Given the description of an element on the screen output the (x, y) to click on. 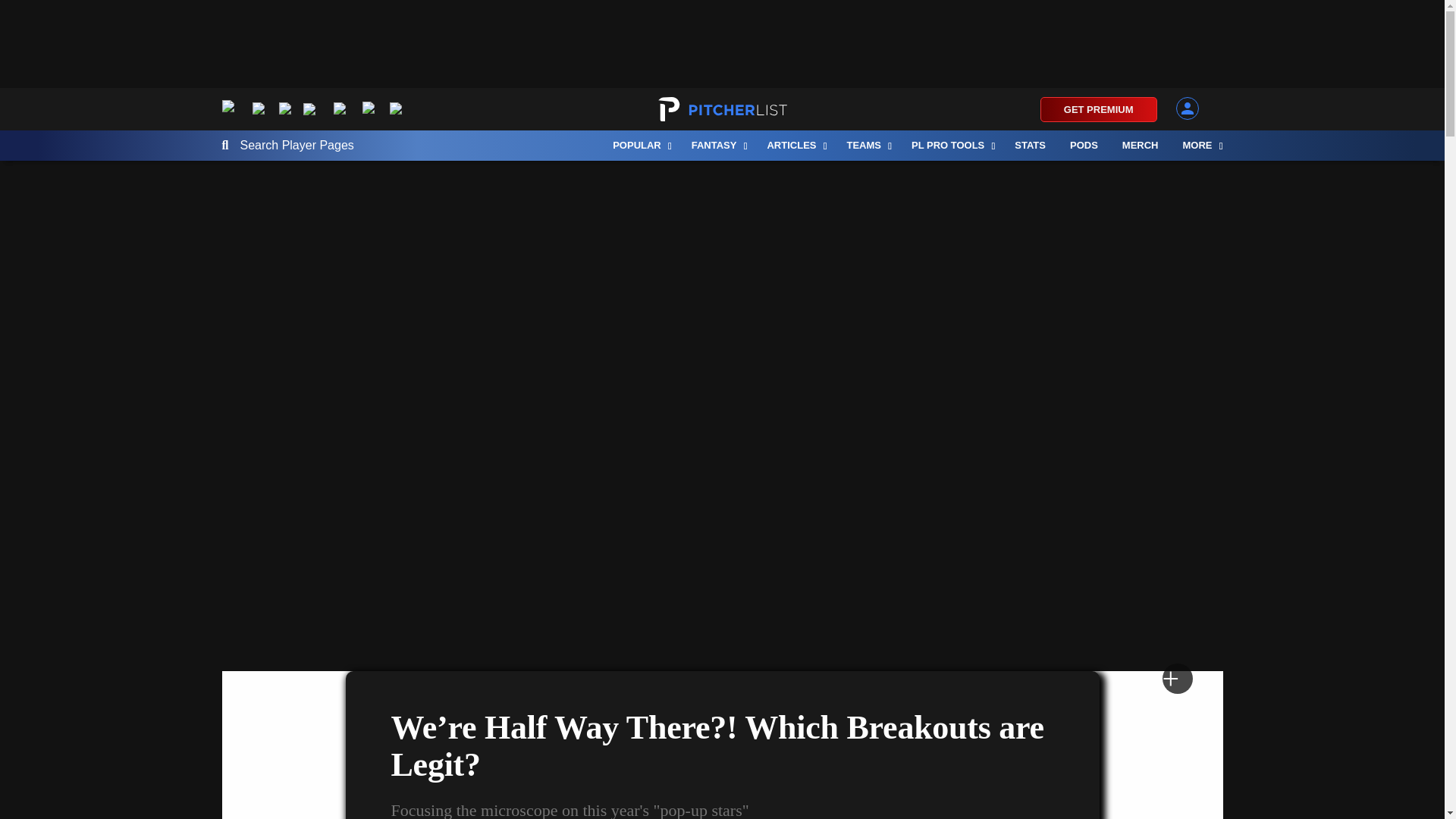
GET PREMIUM (1099, 109)
FANTASY (717, 145)
